Given the description of an element on the screen output the (x, y) to click on. 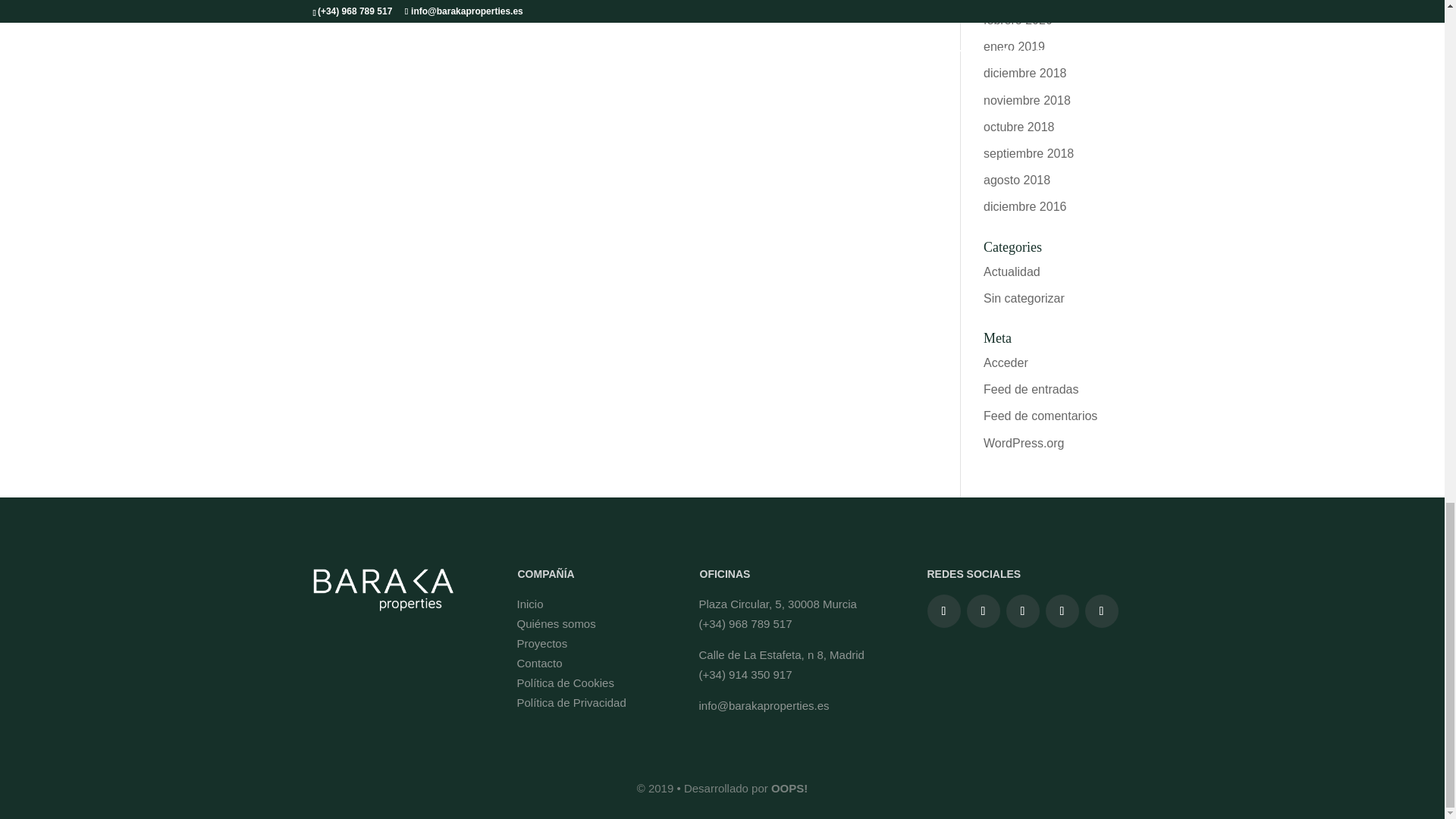
Seguir en Twitter (1022, 611)
Seguir en Instagram (982, 611)
Seguir en Youtube (1101, 611)
Seguir en Facebook (942, 611)
Seguir en LinkedIn (1061, 611)
